Given the description of an element on the screen output the (x, y) to click on. 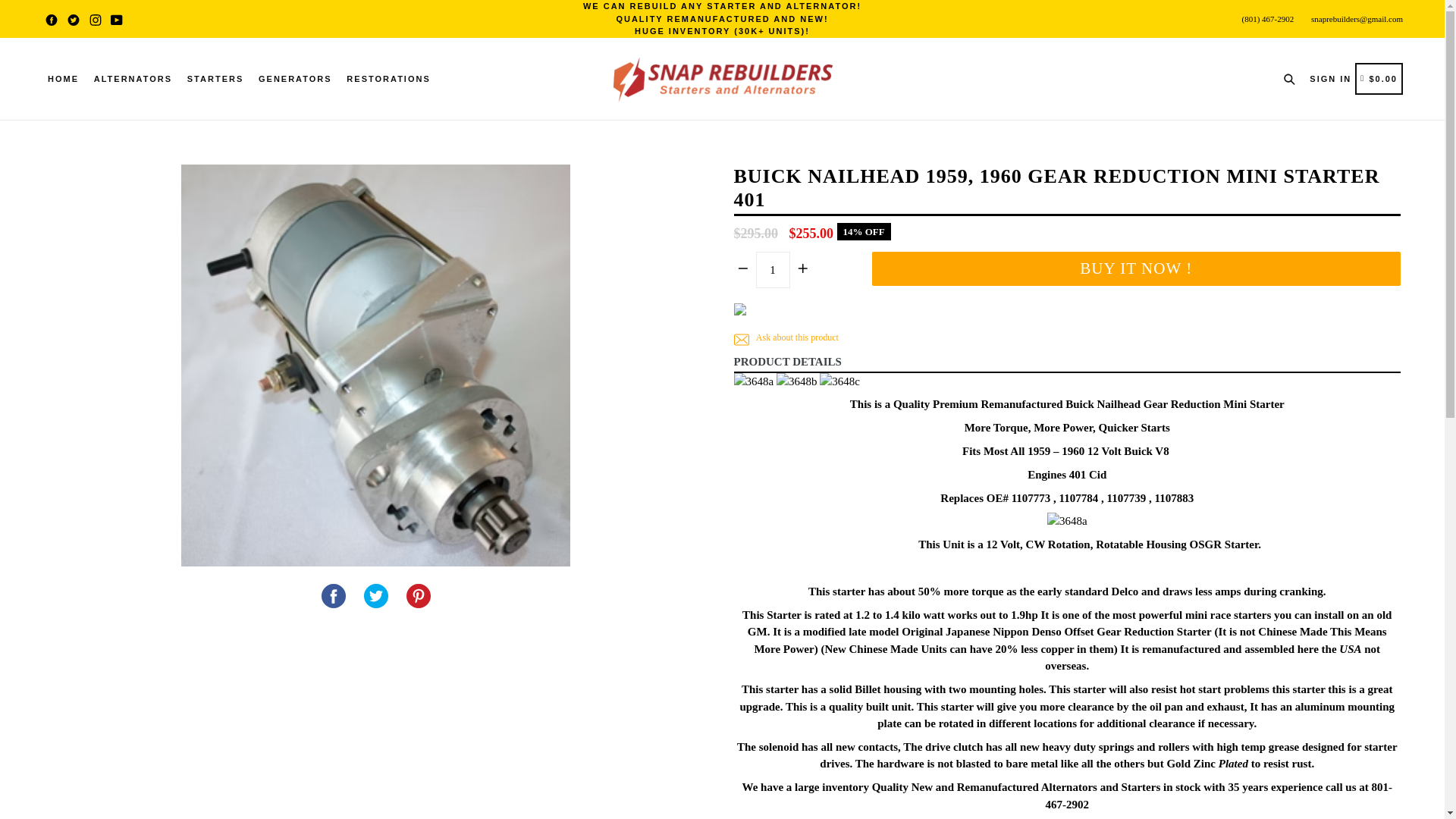
RESTORATIONS (387, 78)
Twitter (376, 596)
Pin on Pinterest (73, 19)
Instagram (418, 596)
1 (94, 19)
Tweet on Twitter (772, 269)
Snap Rebuilders on Twitter (376, 596)
BUY IT NOW ! (73, 19)
Snap Rebuilders on YouTube (1136, 268)
